Given the description of an element on the screen output the (x, y) to click on. 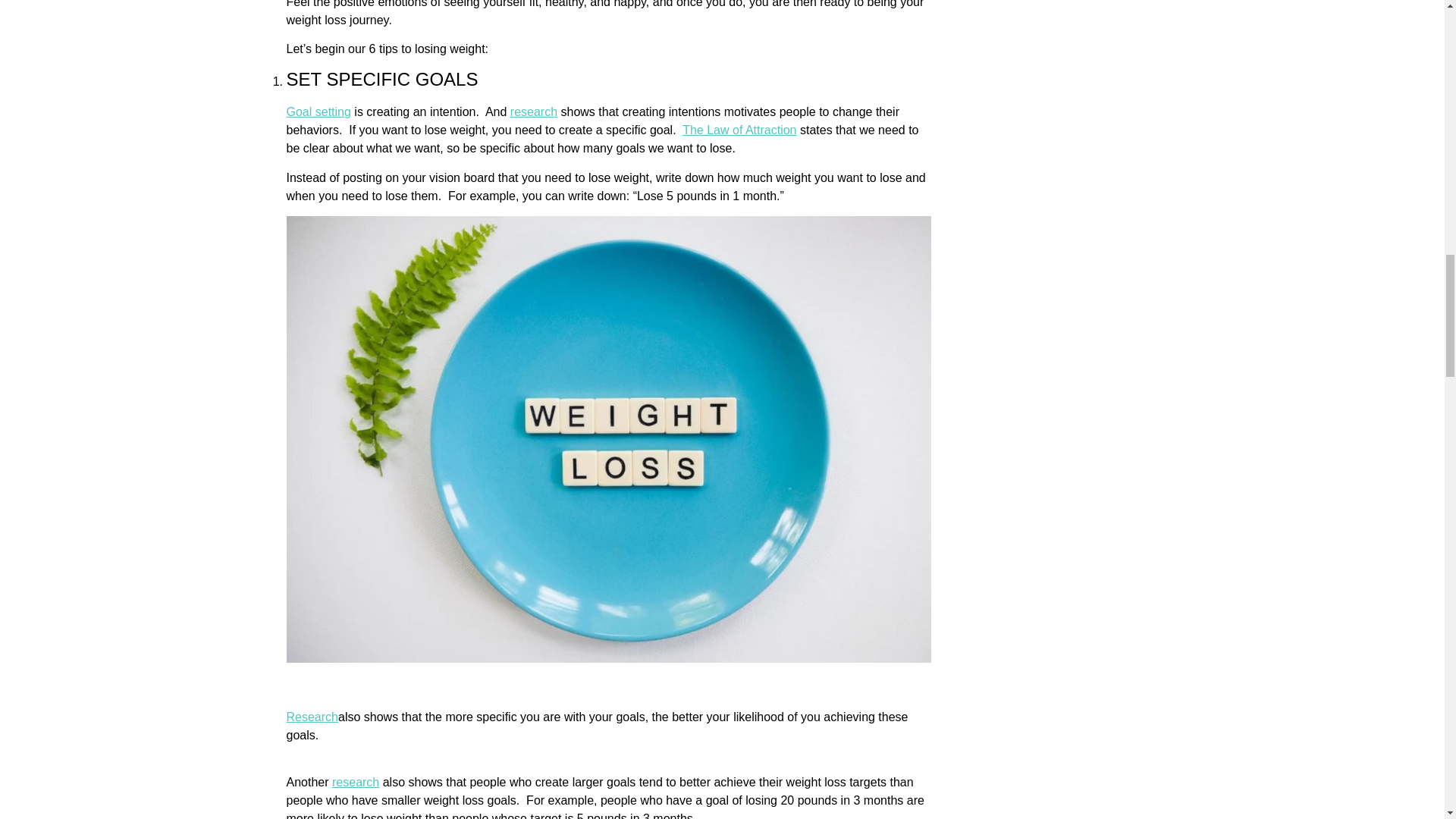
research (534, 111)
The Law of Attraction (739, 129)
Goal setting (318, 111)
Research (311, 716)
